Given the description of an element on the screen output the (x, y) to click on. 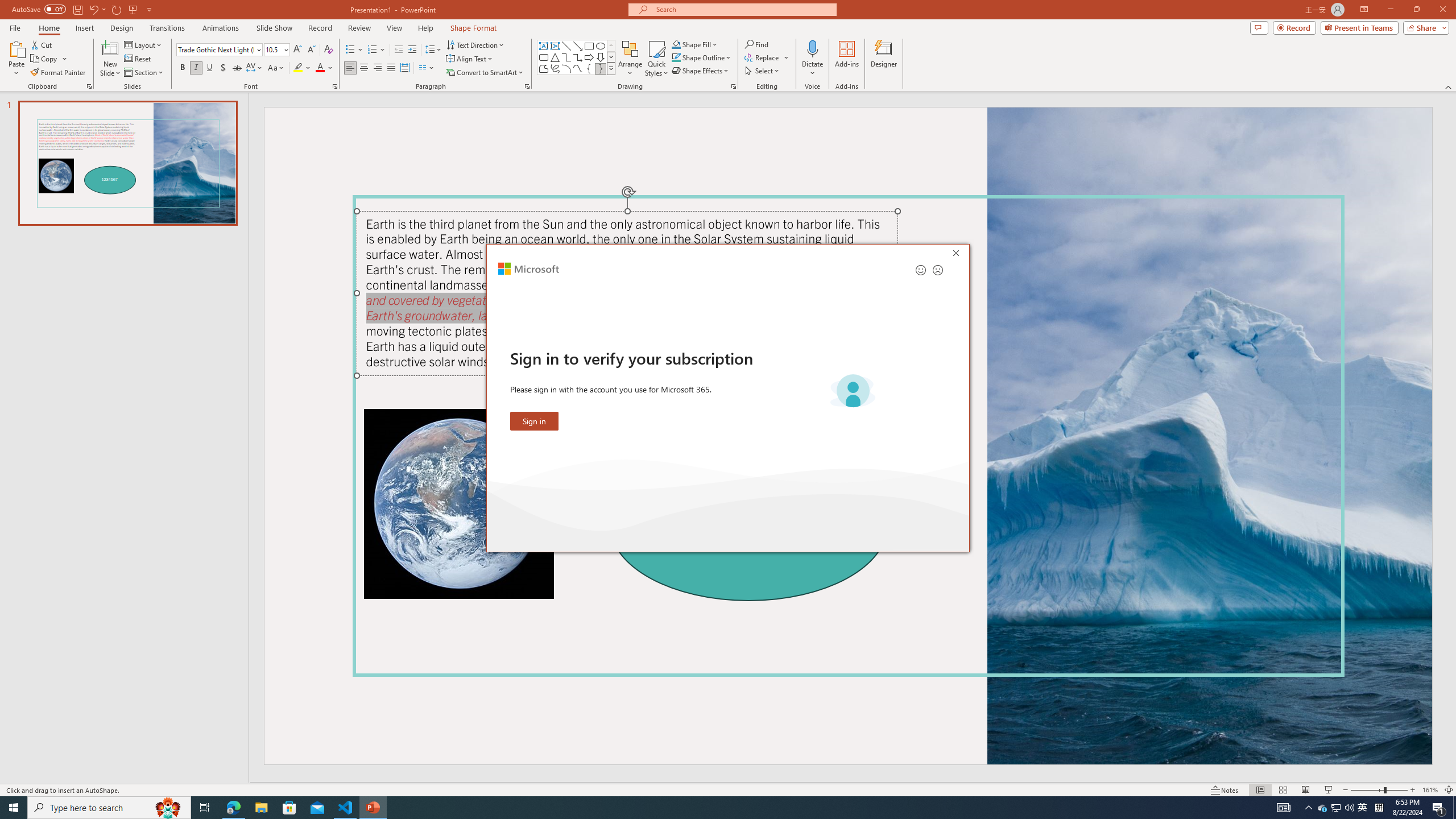
Justify (390, 67)
Isosceles Triangle (554, 57)
Shape Effects (700, 69)
Shape Outline Teal, Accent 1 (675, 56)
Line Spacing (433, 49)
Line (566, 45)
Change Case (276, 67)
Vertical Text Box (554, 45)
Decrease Indent (398, 49)
